Given the description of an element on the screen output the (x, y) to click on. 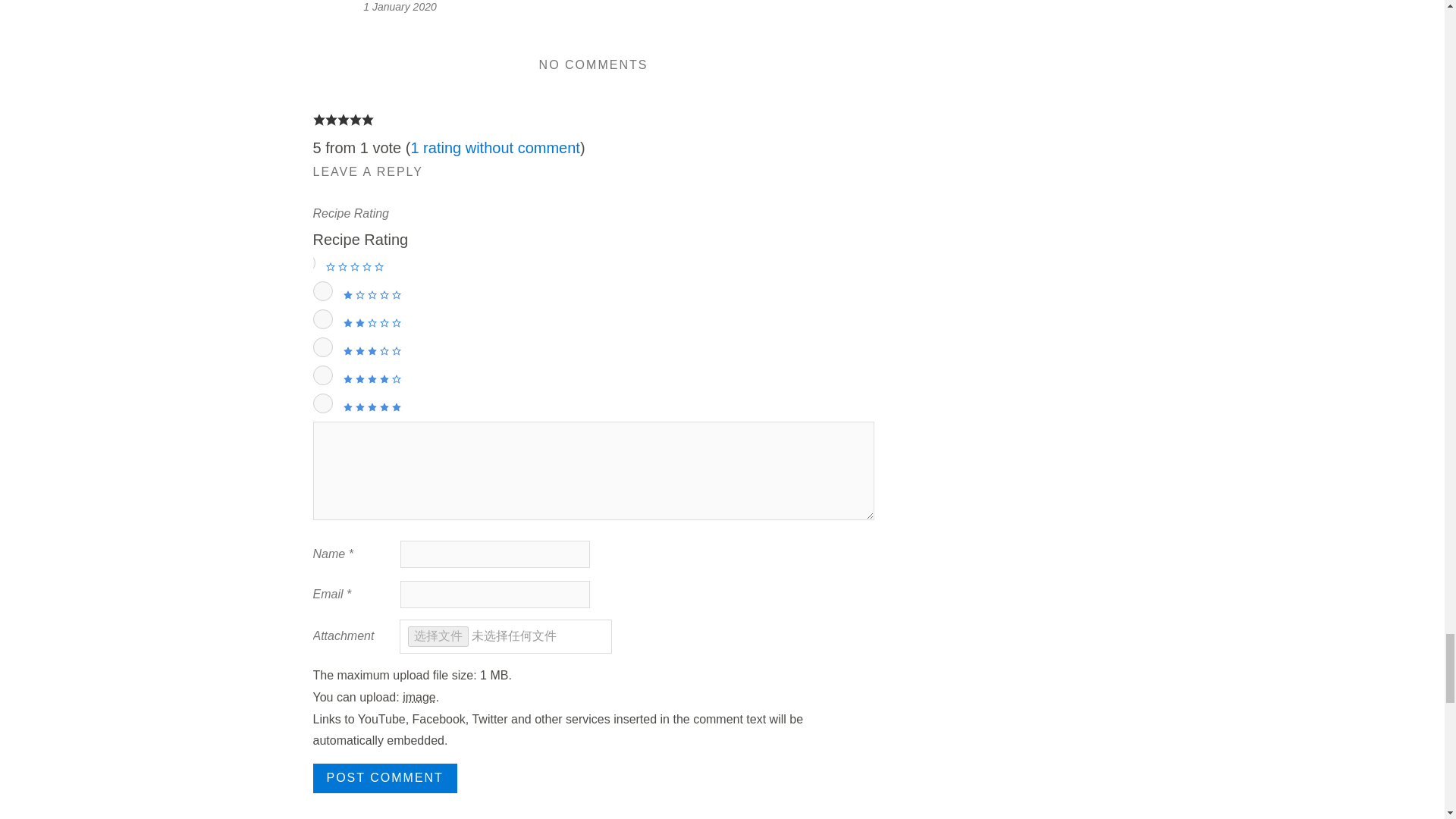
5 (322, 403)
Post Comment (385, 778)
0 (305, 262)
jpg, jpeg, png (419, 697)
3 (322, 347)
1 (322, 291)
4 (322, 374)
2 (322, 319)
